Given the description of an element on the screen output the (x, y) to click on. 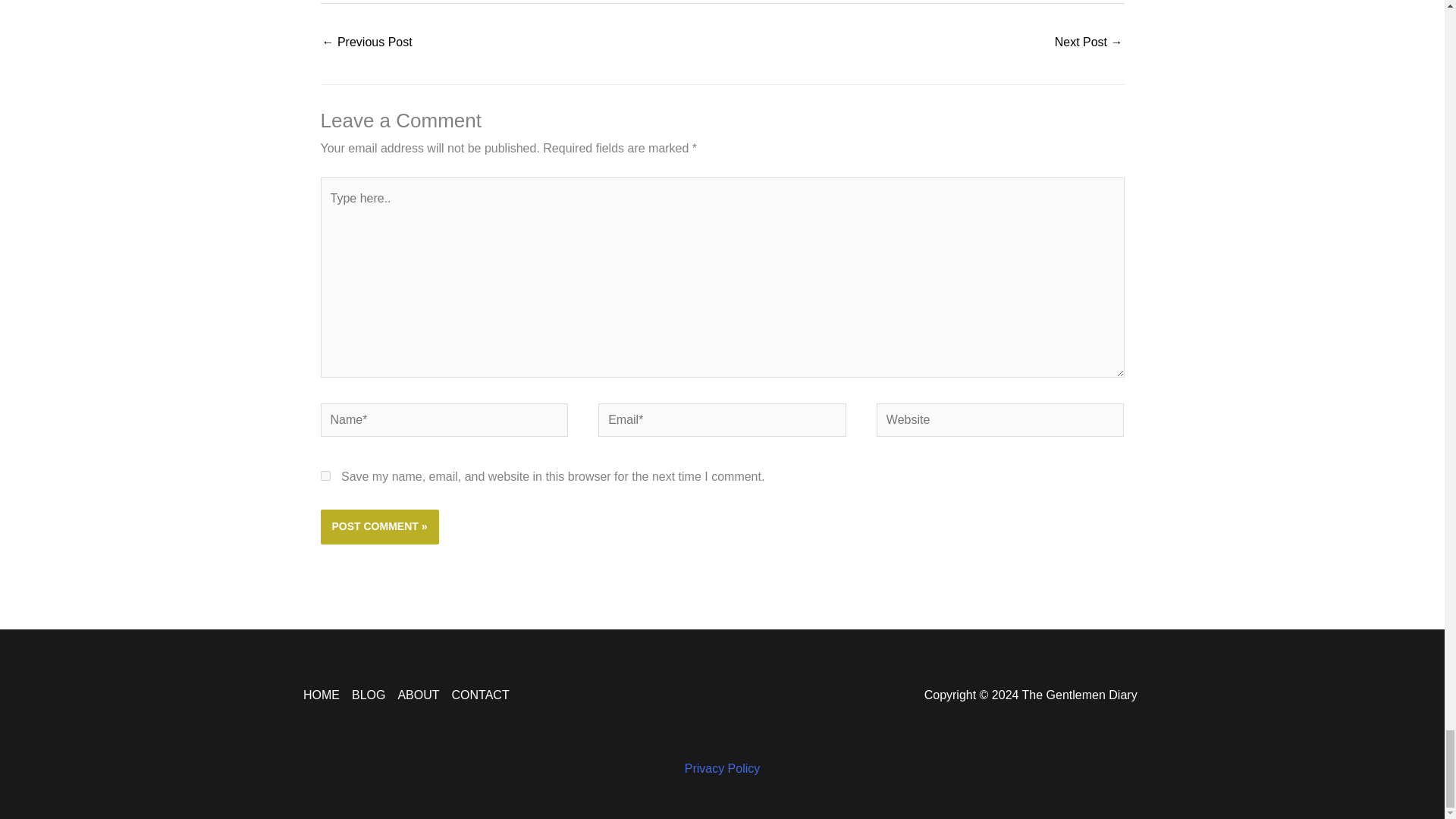
ABOUT (418, 694)
CONTACT (477, 694)
Privacy Policy (722, 768)
yes (325, 475)
BLOG (368, 694)
HOME (324, 694)
